Given the description of an element on the screen output the (x, y) to click on. 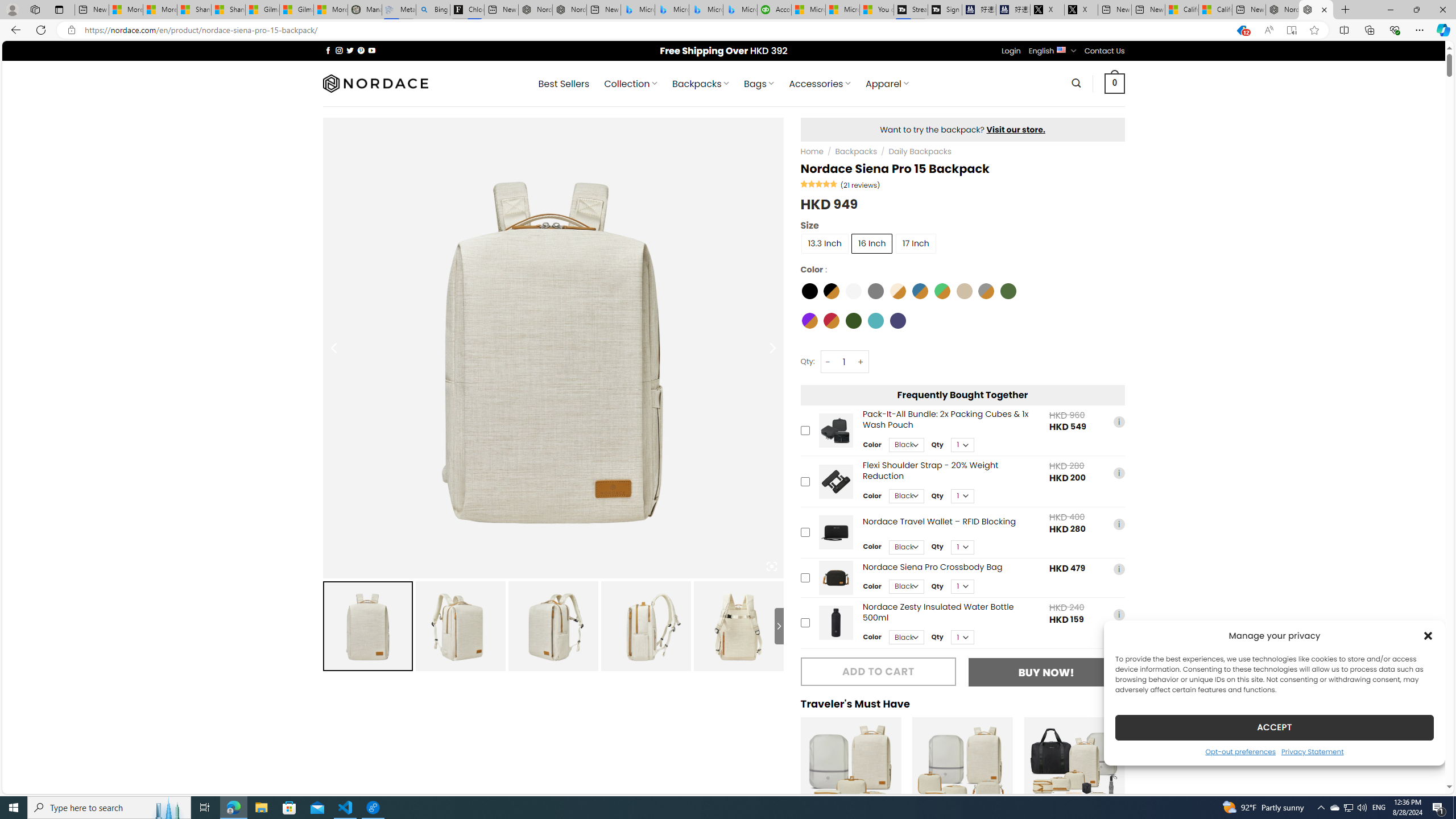
Minimize (1390, 9)
Home (812, 151)
Microsoft Bing Travel - Stays in Bangkok, Bangkok, Thailand (671, 9)
Shanghai, China weather forecast | Microsoft Weather (228, 9)
Browser essentials (1394, 29)
Address and search bar (653, 29)
Class: upsell-v2-product-upsell-variable-product-qty-select (962, 637)
Read aloud this page (Ctrl+Shift+U) (1268, 29)
(21 reviews) (860, 184)
BUY NOW! (1046, 672)
X (1080, 9)
